Given the description of an element on the screen output the (x, y) to click on. 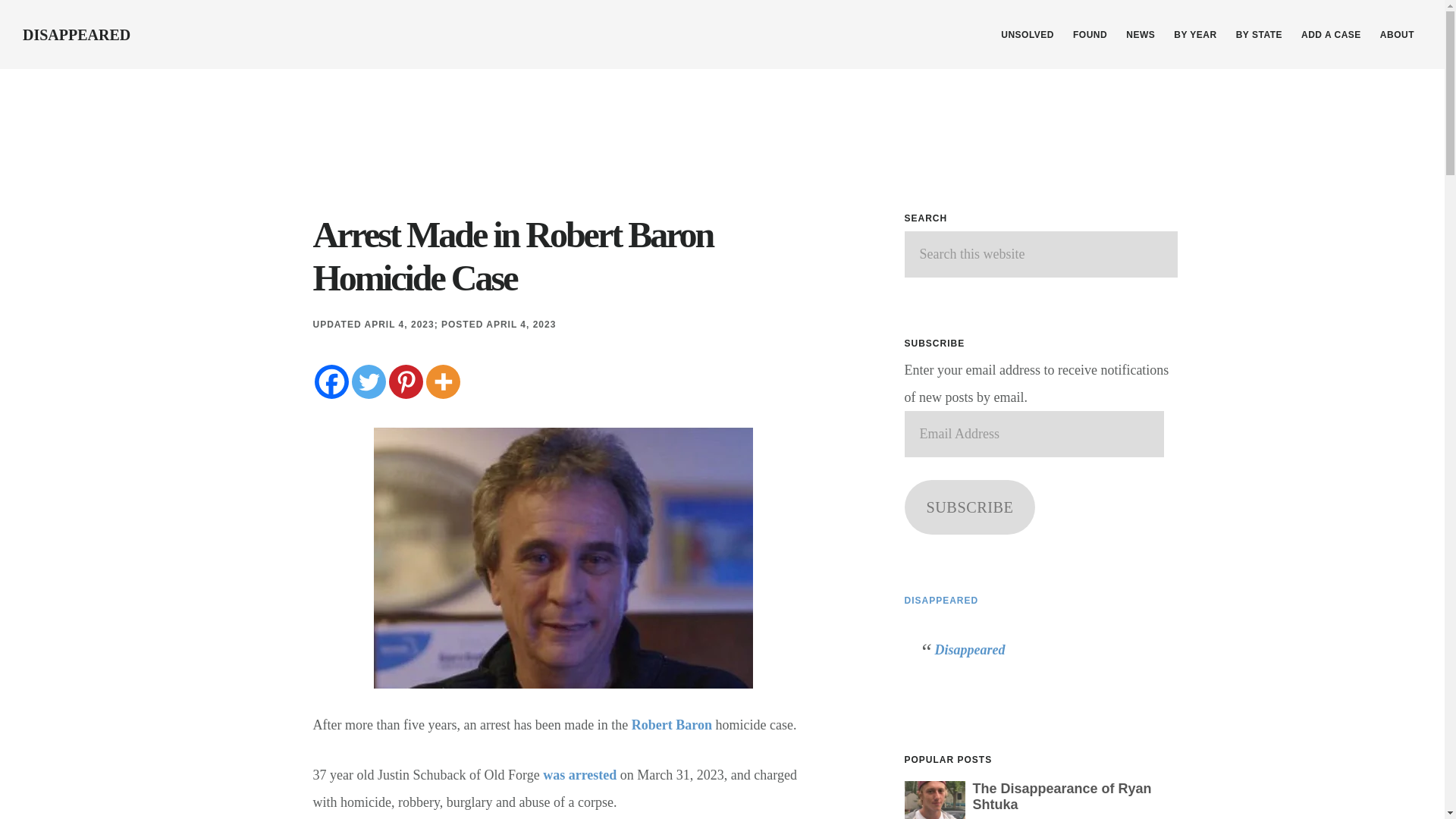
ADD A CASE (1331, 34)
Disappeared (969, 649)
FOUND (1090, 34)
More (443, 381)
ABOUT (1397, 34)
DISAPPEARED (941, 600)
SUBSCRIBE (969, 506)
Pinterest (405, 381)
